Given the description of an element on the screen output the (x, y) to click on. 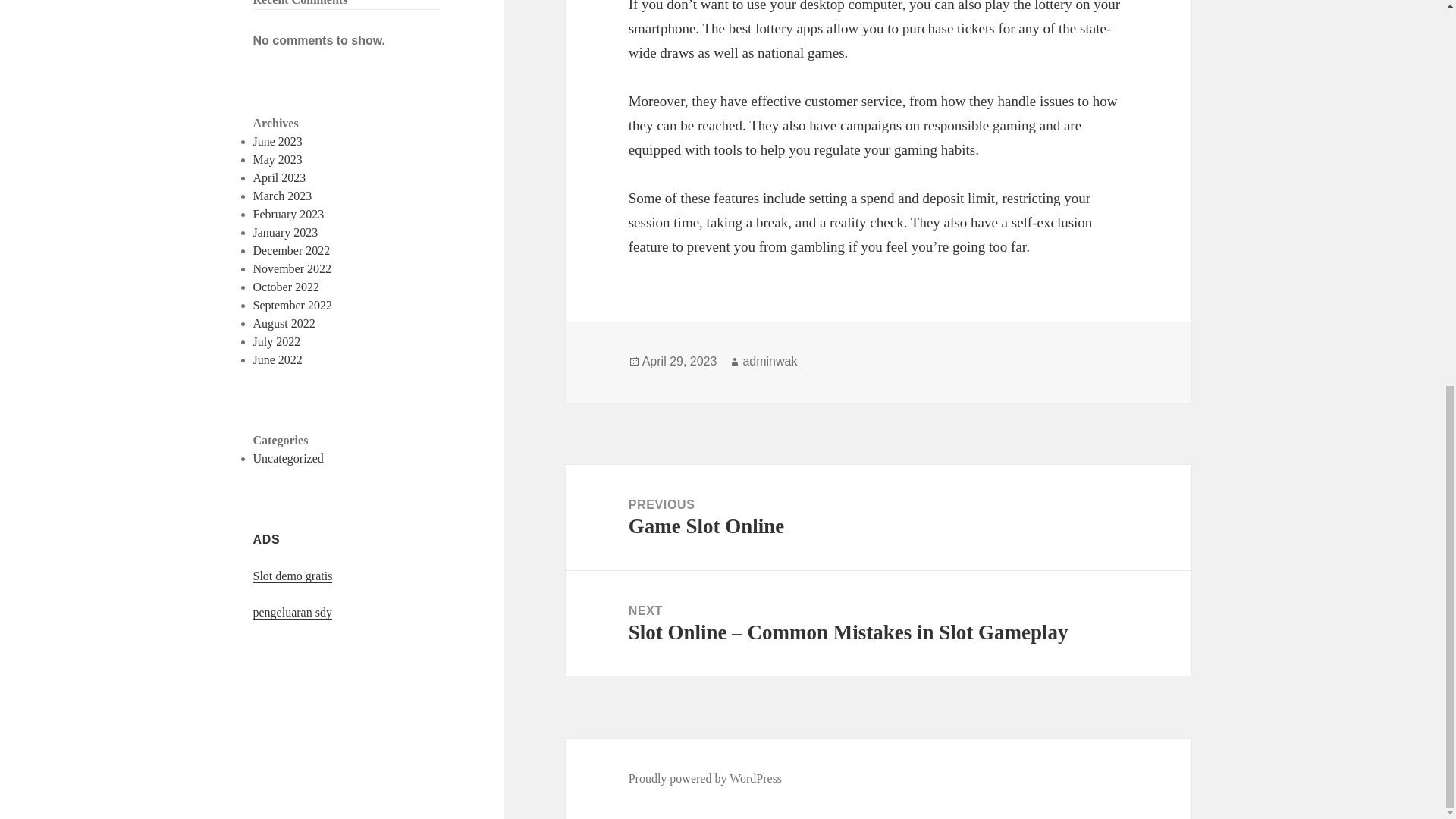
November 2022 (292, 268)
June 2023 (277, 141)
October 2022 (286, 286)
July 2022 (277, 341)
April 29, 2023 (679, 361)
pengeluaran sdy (292, 612)
Slot demo gratis (293, 576)
December 2022 (291, 250)
May 2023 (277, 159)
Uncategorized (288, 458)
